Given the description of an element on the screen output the (x, y) to click on. 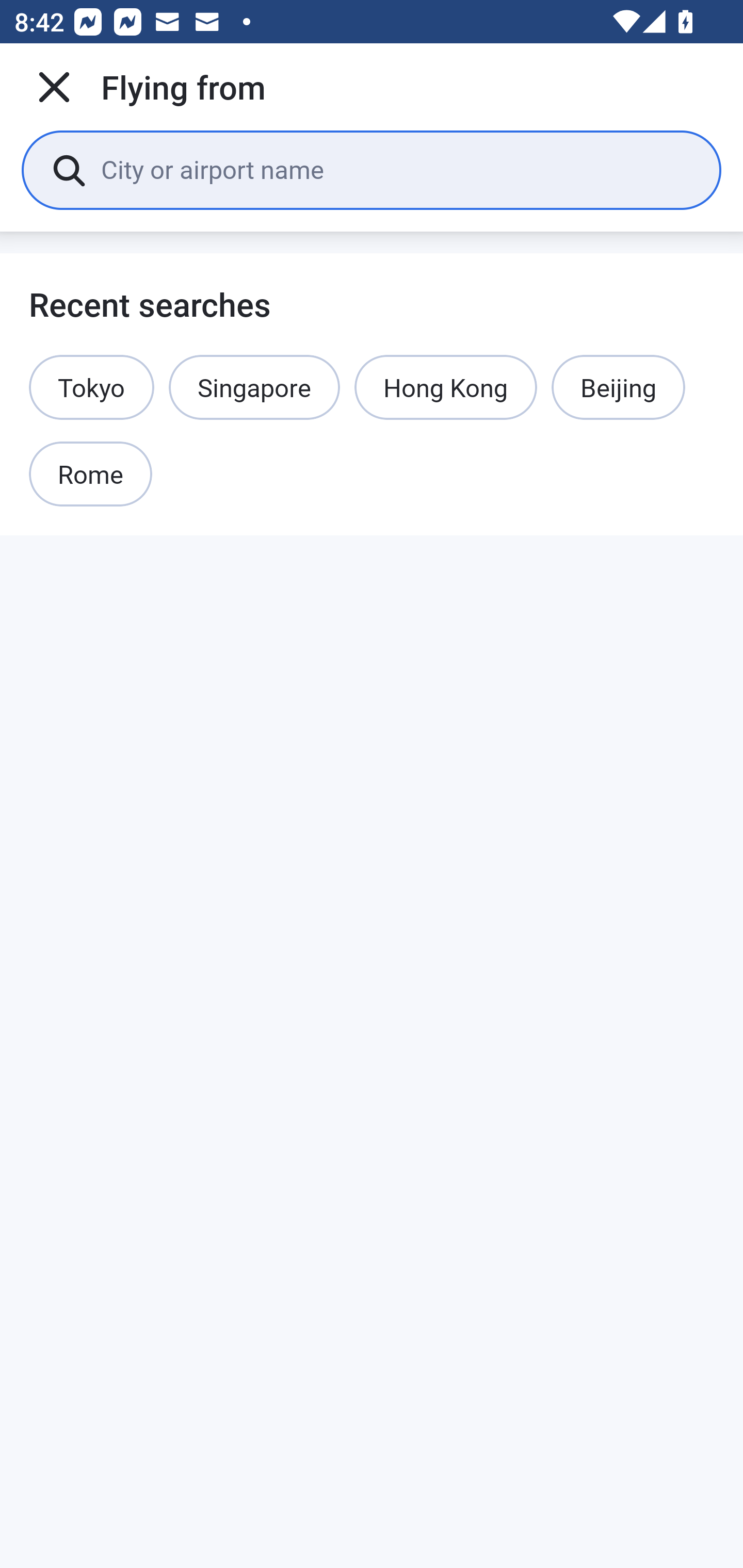
City or airport name (396, 169)
Tokyo (91, 387)
Singapore (254, 387)
Hong Kong (445, 387)
Beijing (618, 387)
Rome (90, 474)
